Given the description of an element on the screen output the (x, y) to click on. 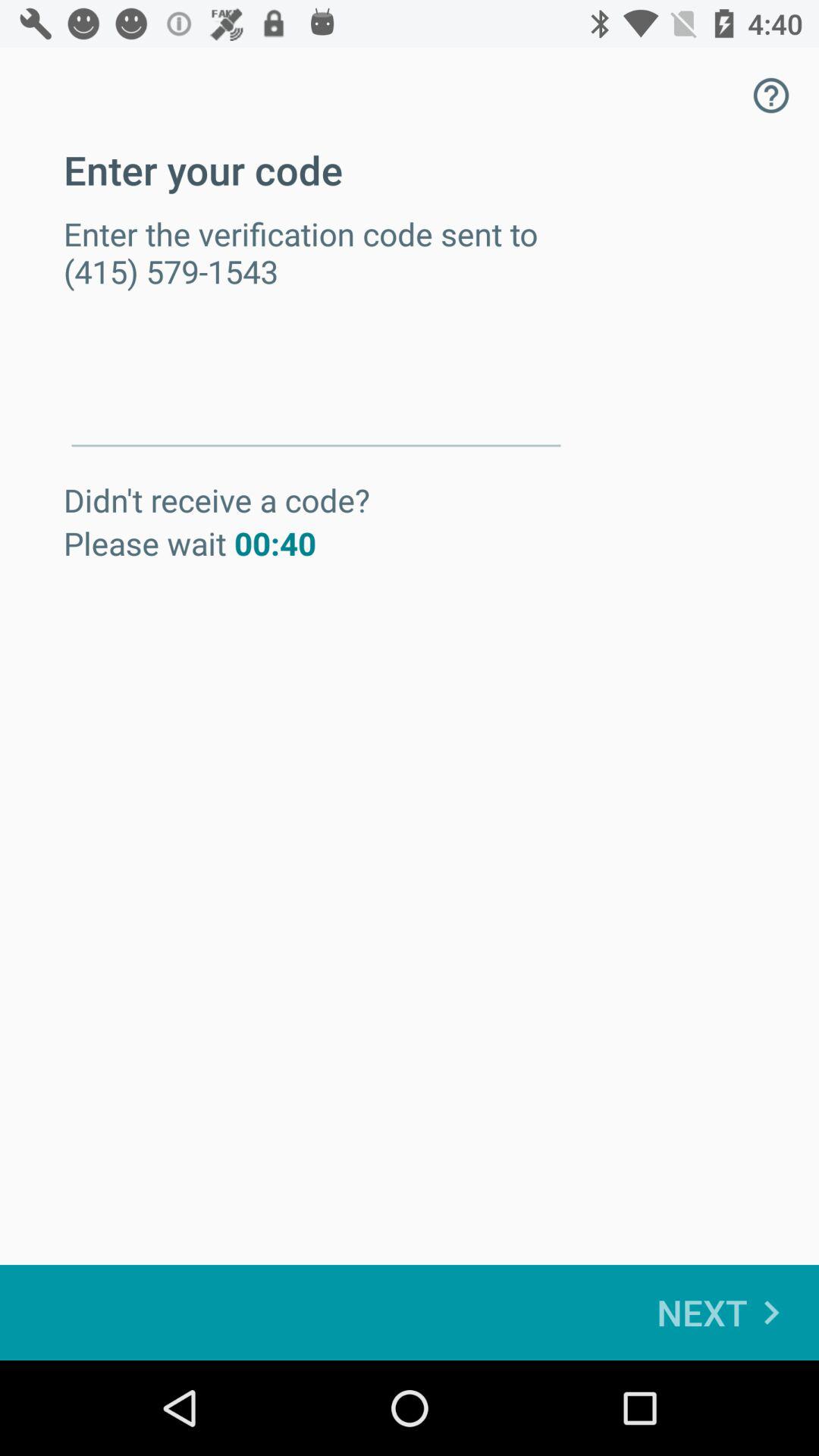
click the icon at the top right corner (771, 95)
